Given the description of an element on the screen output the (x, y) to click on. 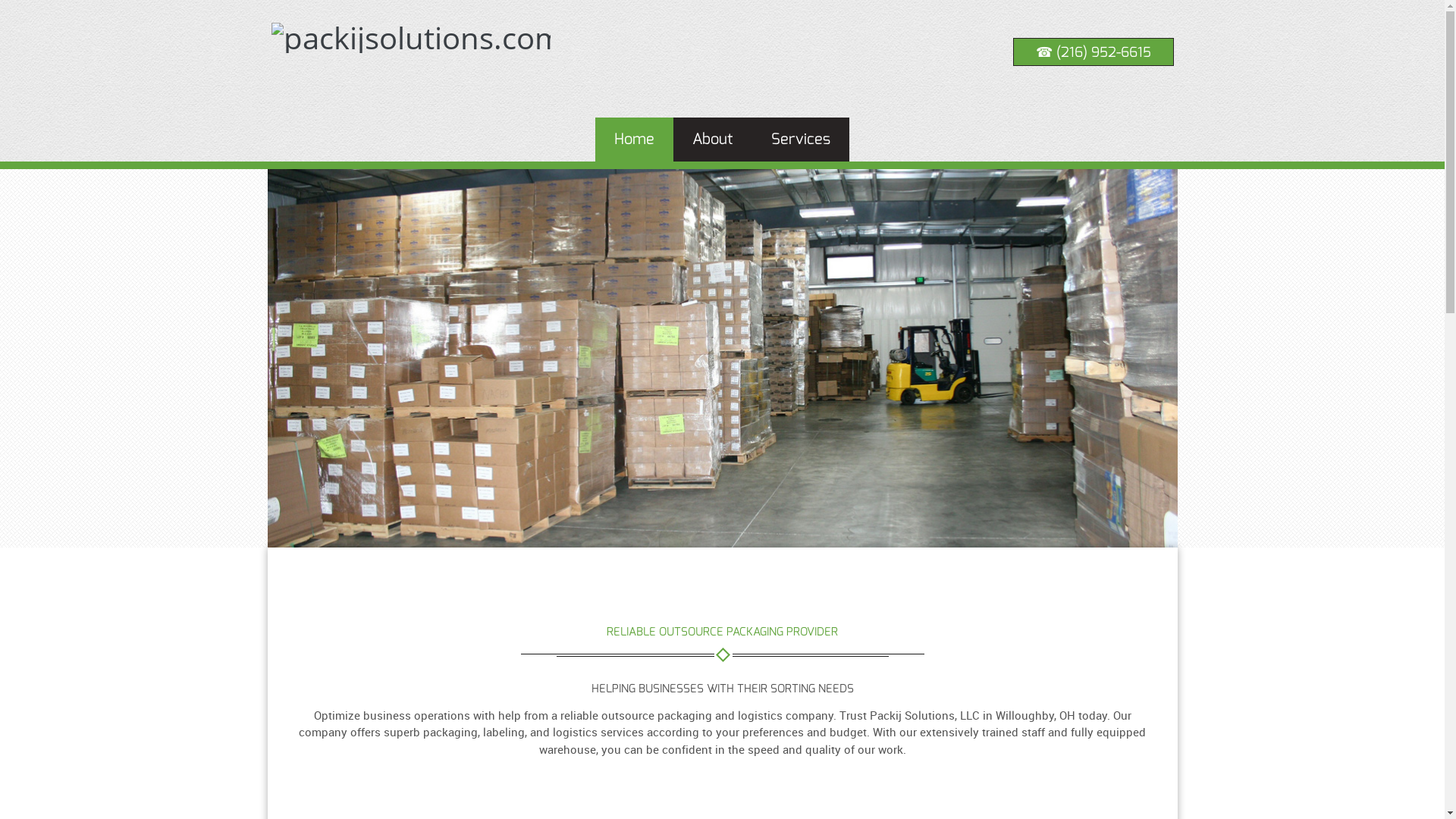
Home (633, 139)
Services (800, 139)
About (712, 139)
Home (633, 139)
Services (800, 139)
Go to site home page (403, 58)
Go to site home page (410, 37)
About (712, 139)
